Given the description of an element on the screen output the (x, y) to click on. 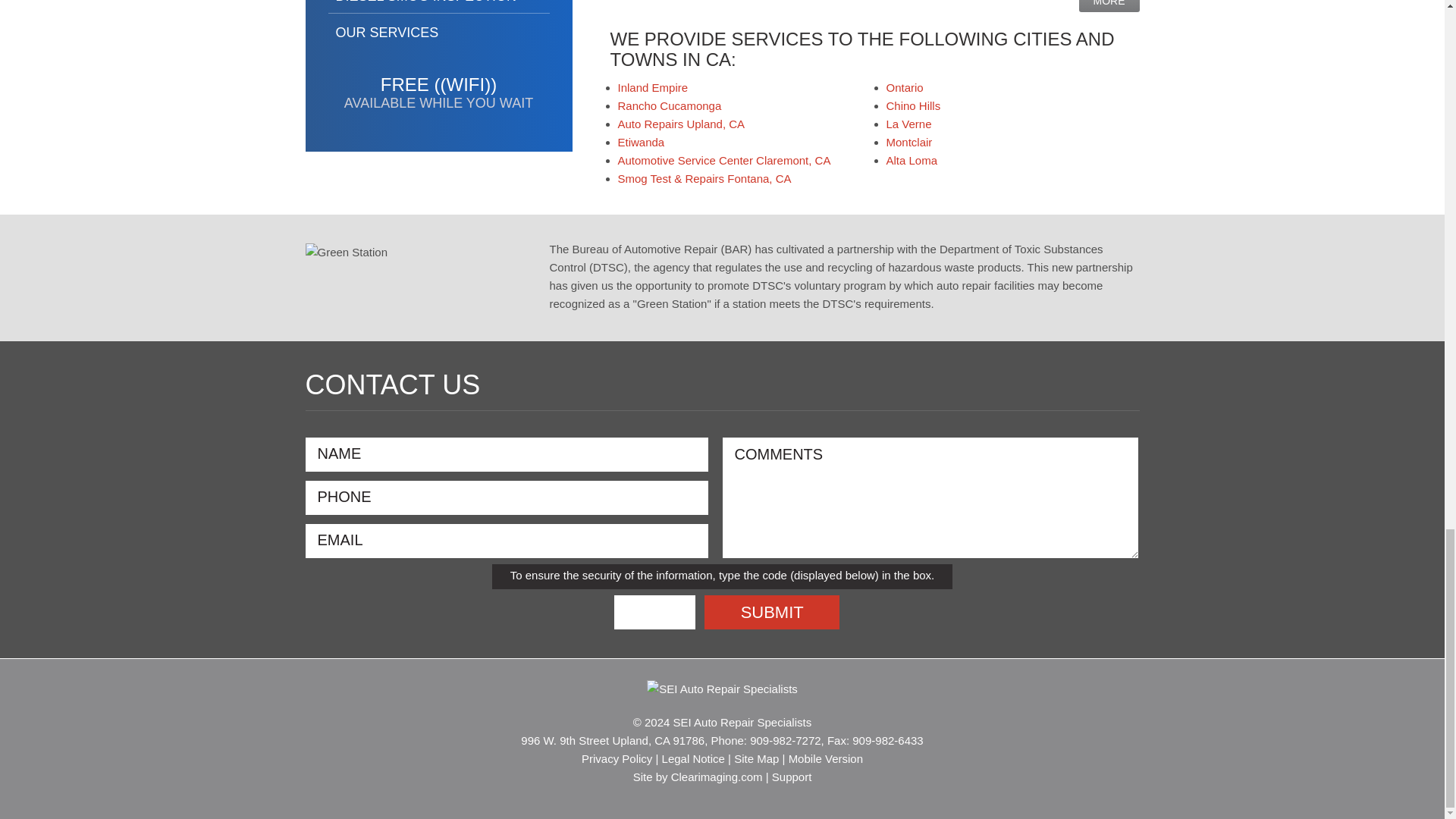
Rancho Cucamonga (668, 105)
Inland Empire (652, 87)
La Verne (908, 123)
Chino Hills (912, 105)
Auto Repairs Upland, CA (680, 123)
 Submit  (772, 612)
Legal Notice (693, 758)
Privacy Policy (616, 758)
Site Map (755, 758)
MORE (1108, 6)
